Given the description of an element on the screen output the (x, y) to click on. 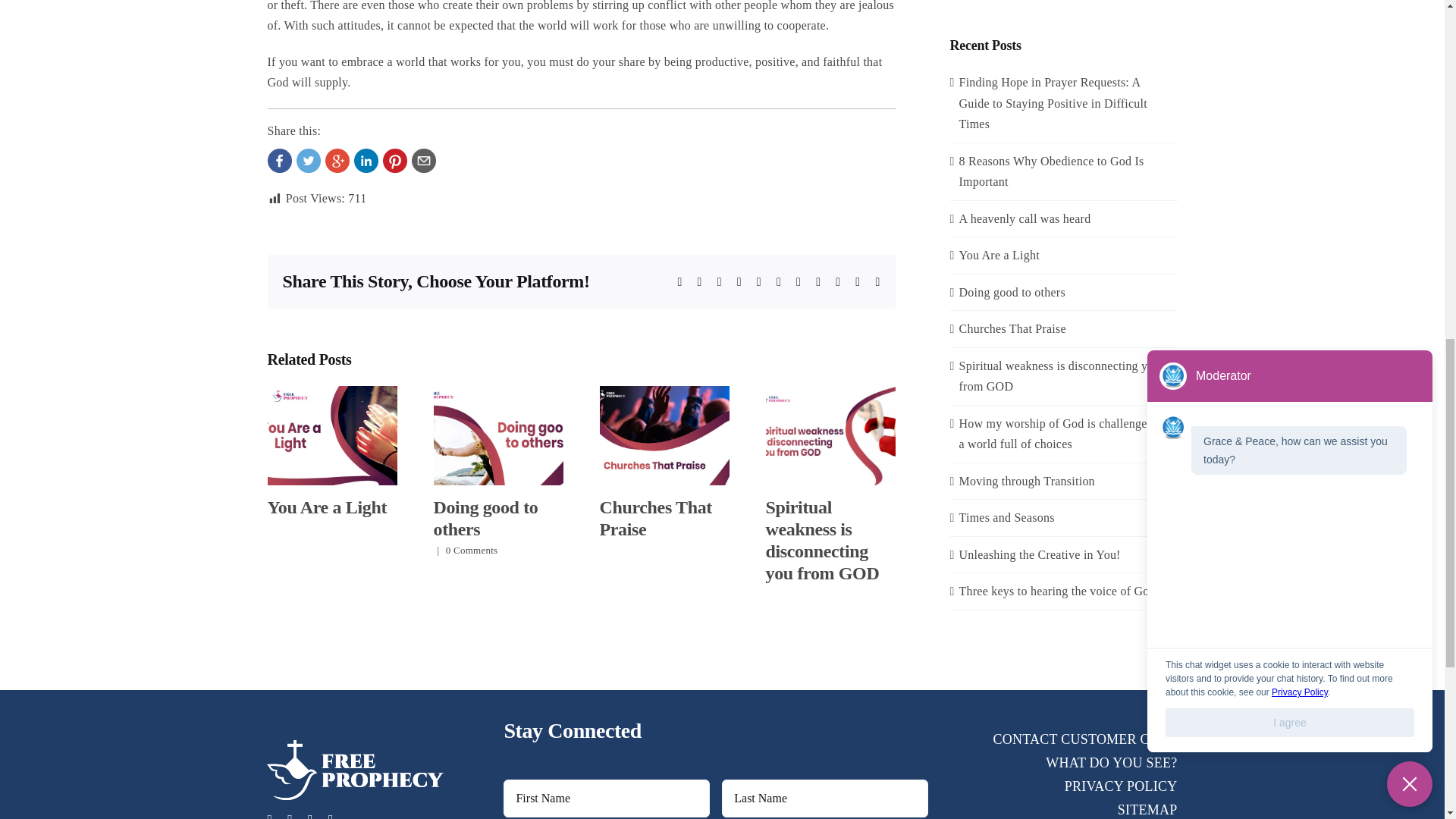
Click to share on Google (336, 160)
Click to share on LinkedIn (365, 160)
Click to share on Twitter (307, 160)
Click to share on Facebook (278, 160)
Click to share on Pinterest (393, 160)
Click to share by Email (422, 160)
